Given the description of an element on the screen output the (x, y) to click on. 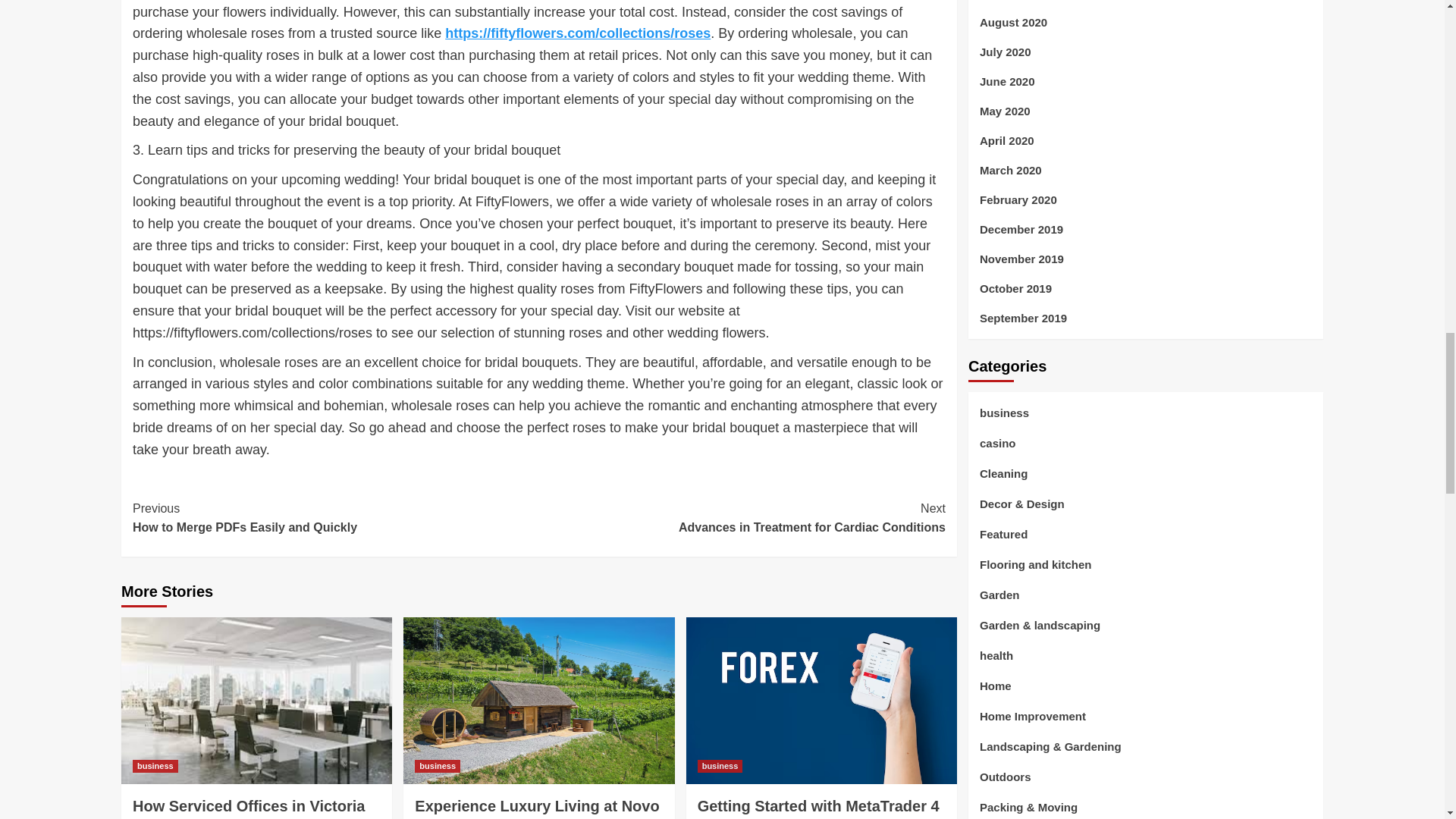
Experience Luxury Living at Novo Place by Hoi Hup Realty (536, 808)
Getting Started with MetaTrader 4 on Your Mac (741, 517)
business (818, 808)
How Serviced Offices in Victoria Boost Business Productivity (154, 766)
business (248, 808)
business (335, 517)
